Given the description of an element on the screen output the (x, y) to click on. 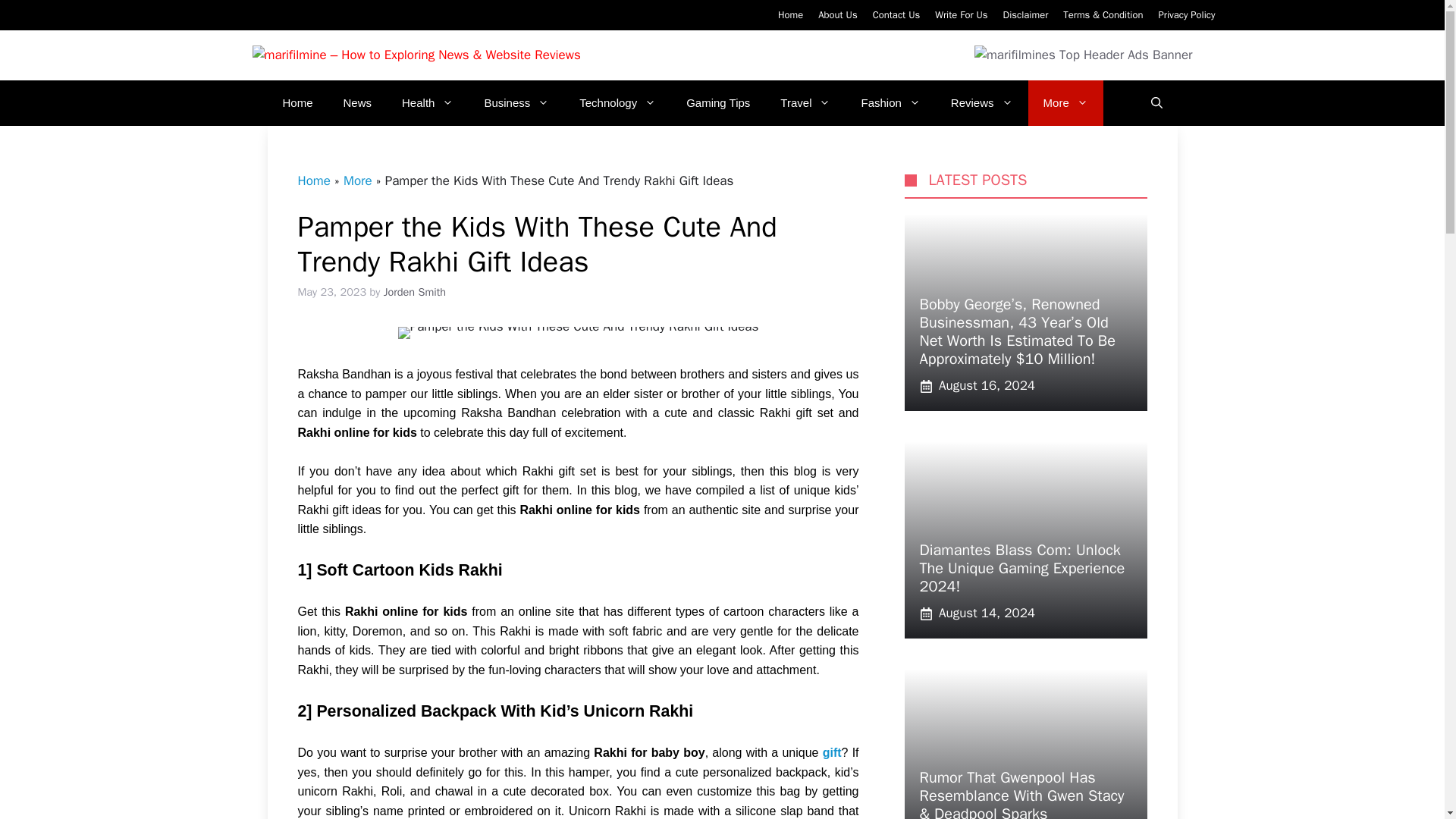
View all posts by Jorden Smith (414, 291)
Disclaimer (1025, 14)
Health (427, 103)
Gaming Tips (718, 103)
Home (296, 103)
Travel (805, 103)
Business (516, 103)
Technology (617, 103)
Contact Us (896, 14)
About Us (837, 14)
